Given the description of an element on the screen output the (x, y) to click on. 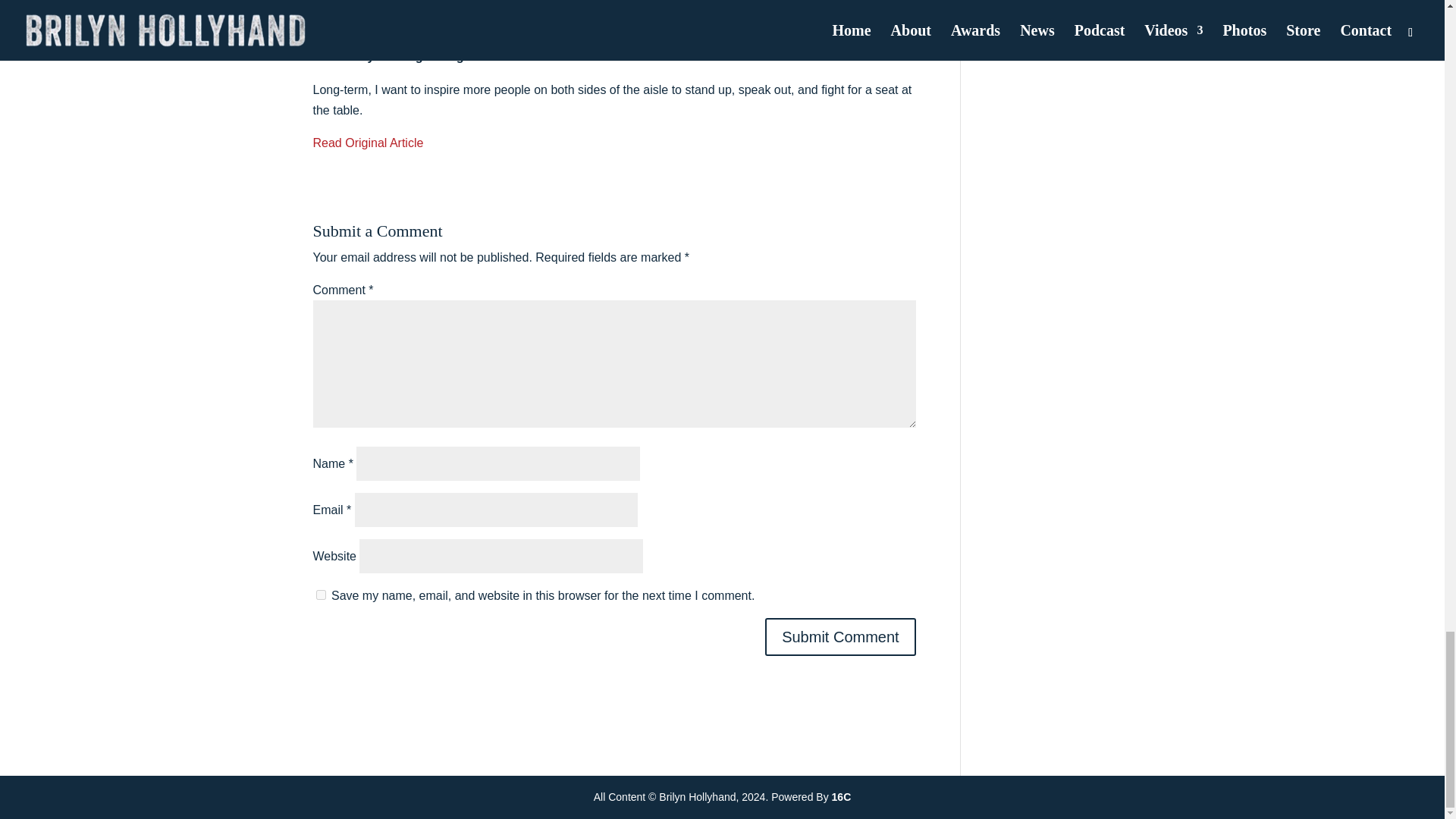
Submit Comment (840, 637)
Read Original Article (368, 142)
Submit Comment (840, 637)
yes (319, 594)
16C (841, 797)
